Given the description of an element on the screen output the (x, y) to click on. 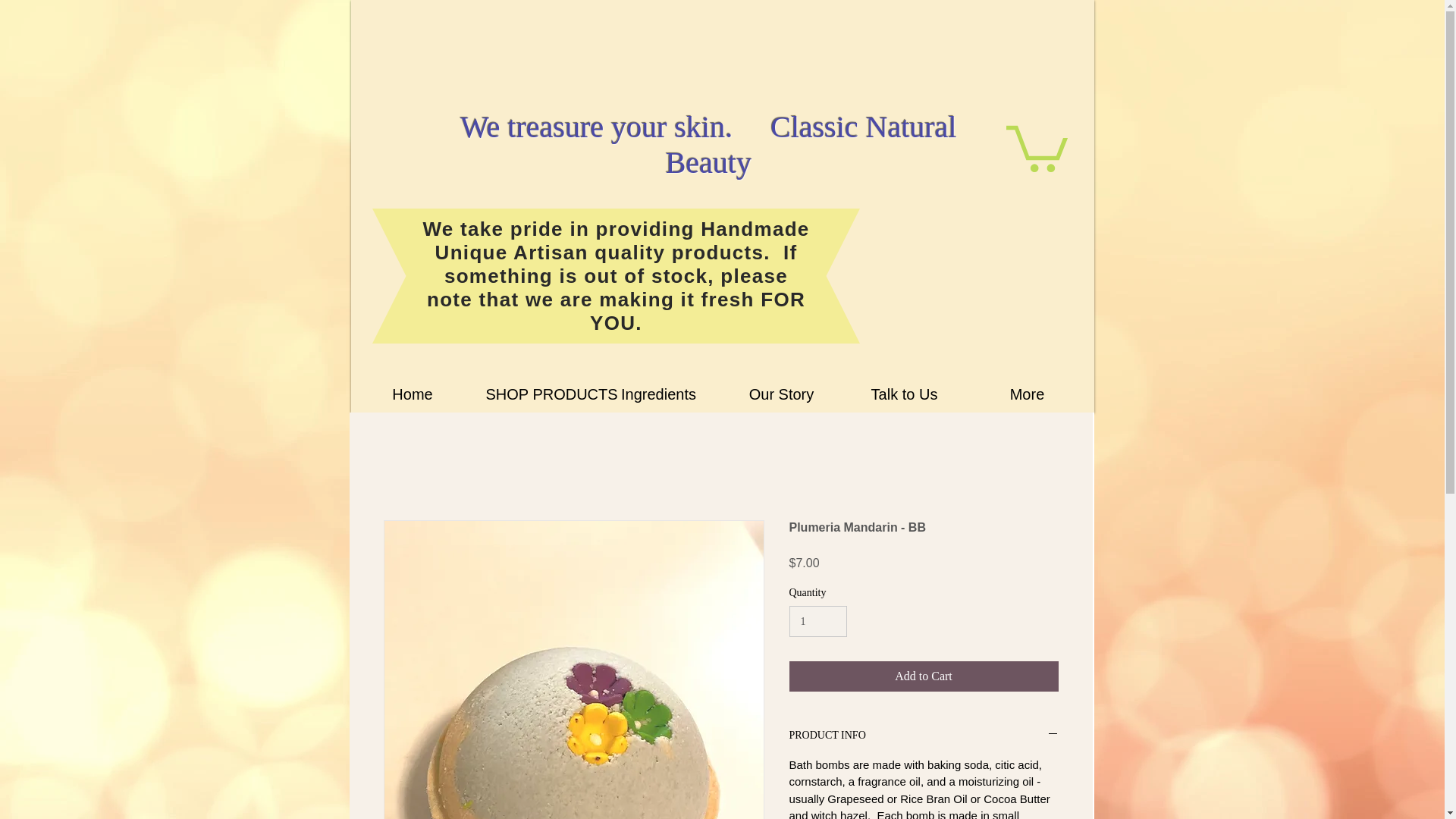
Our Story (781, 394)
Home (412, 394)
Add to Cart (923, 675)
SHOP PRODUCTS (535, 394)
1 (817, 621)
PRODUCT INFO (923, 735)
Talk to Us (904, 394)
Ingredients (658, 394)
